Given the description of an element on the screen output the (x, y) to click on. 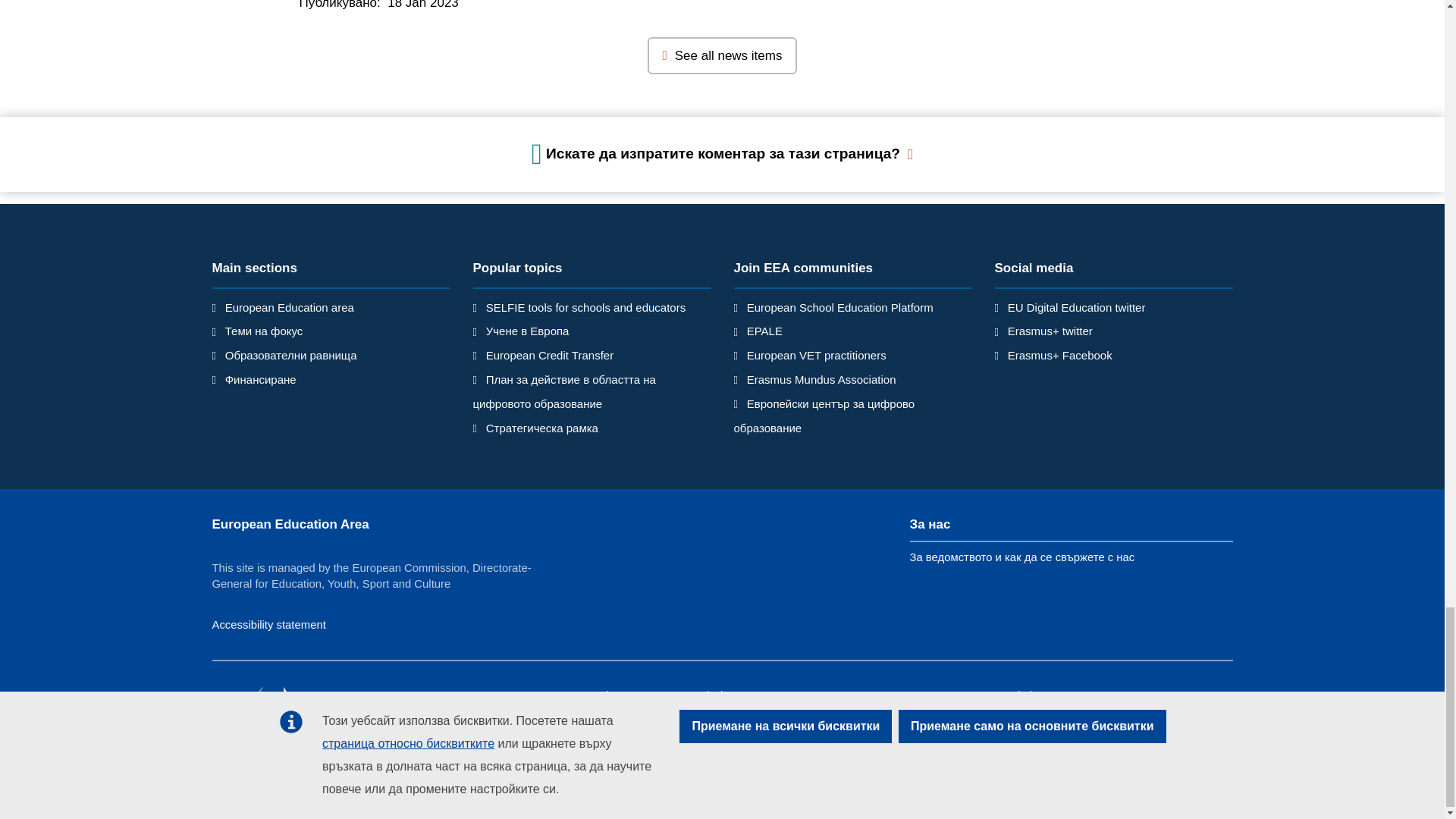
See all news items (722, 55)
European Commission (322, 714)
